Given the description of an element on the screen output the (x, y) to click on. 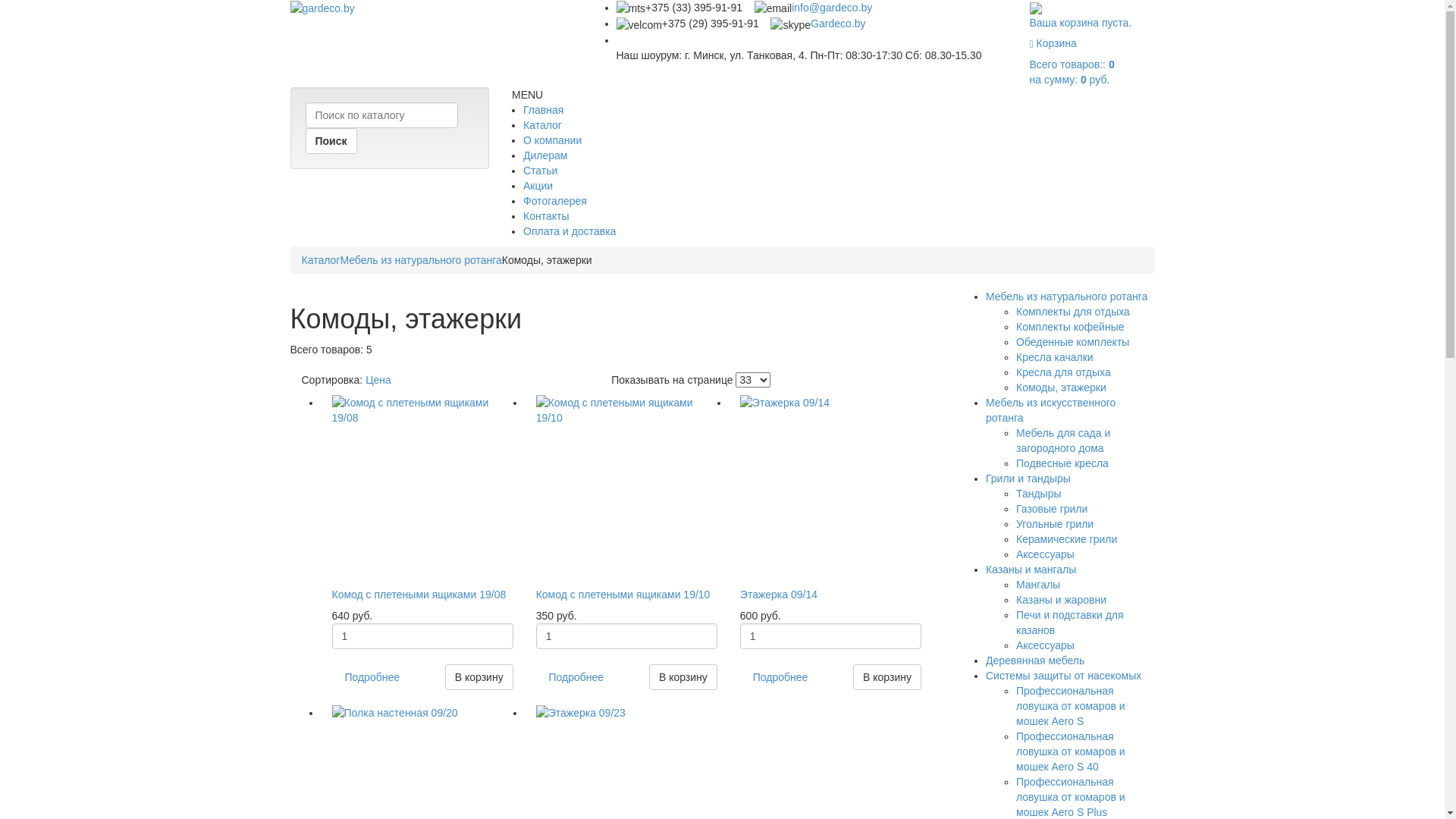
Gardeco.by Element type: text (837, 23)
info@gardeco.by Element type: text (831, 7)
